Given the description of an element on the screen output the (x, y) to click on. 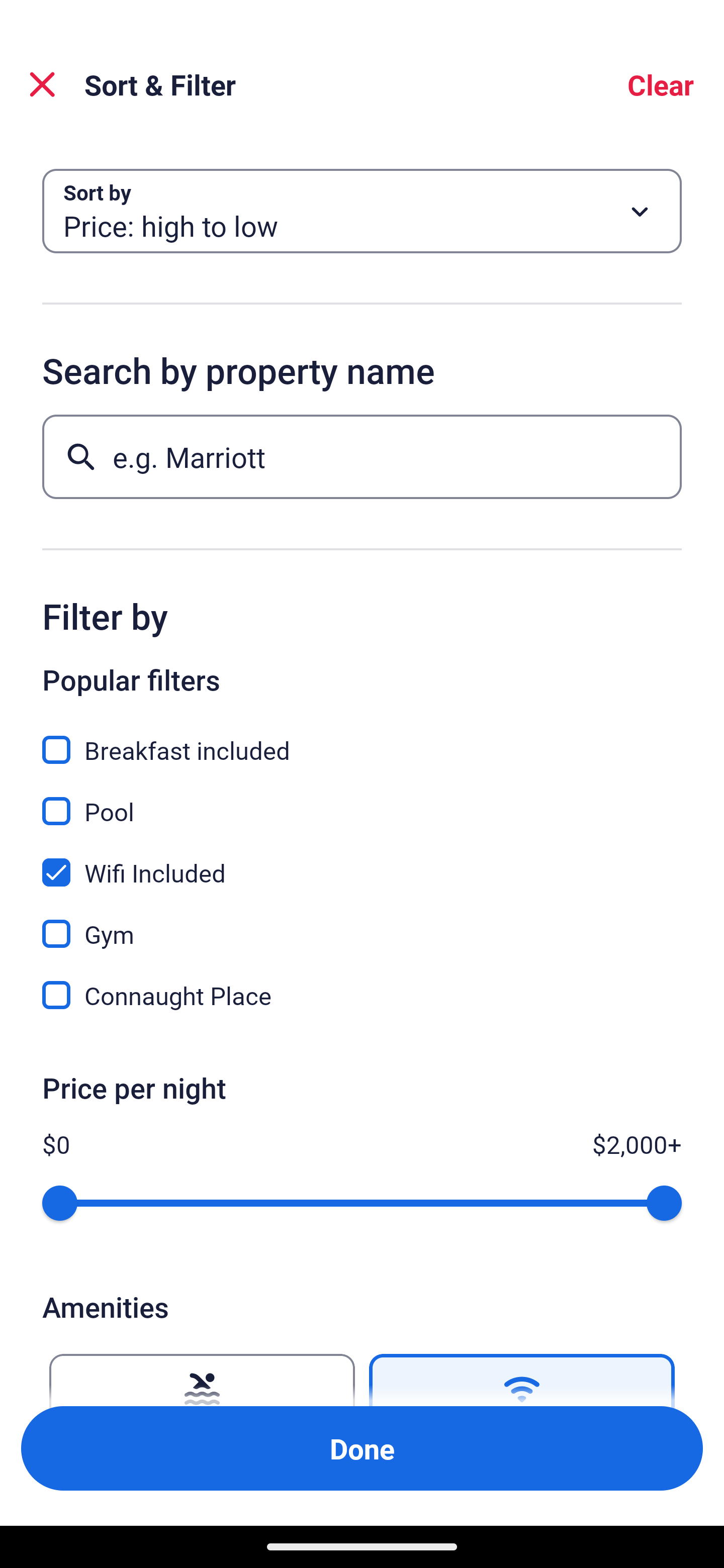
Close Sort and Filter (42, 84)
Clear (660, 84)
Sort by Button Price: high to low (361, 211)
e.g. Marriott Button (361, 455)
Breakfast included, Breakfast included (361, 738)
Pool, Pool (361, 800)
Wifi Included, Wifi Included (361, 861)
Gym, Gym (361, 922)
Connaught Place, Connaught Place (361, 995)
Apply and close Sort and Filter Done (361, 1448)
